Given the description of an element on the screen output the (x, y) to click on. 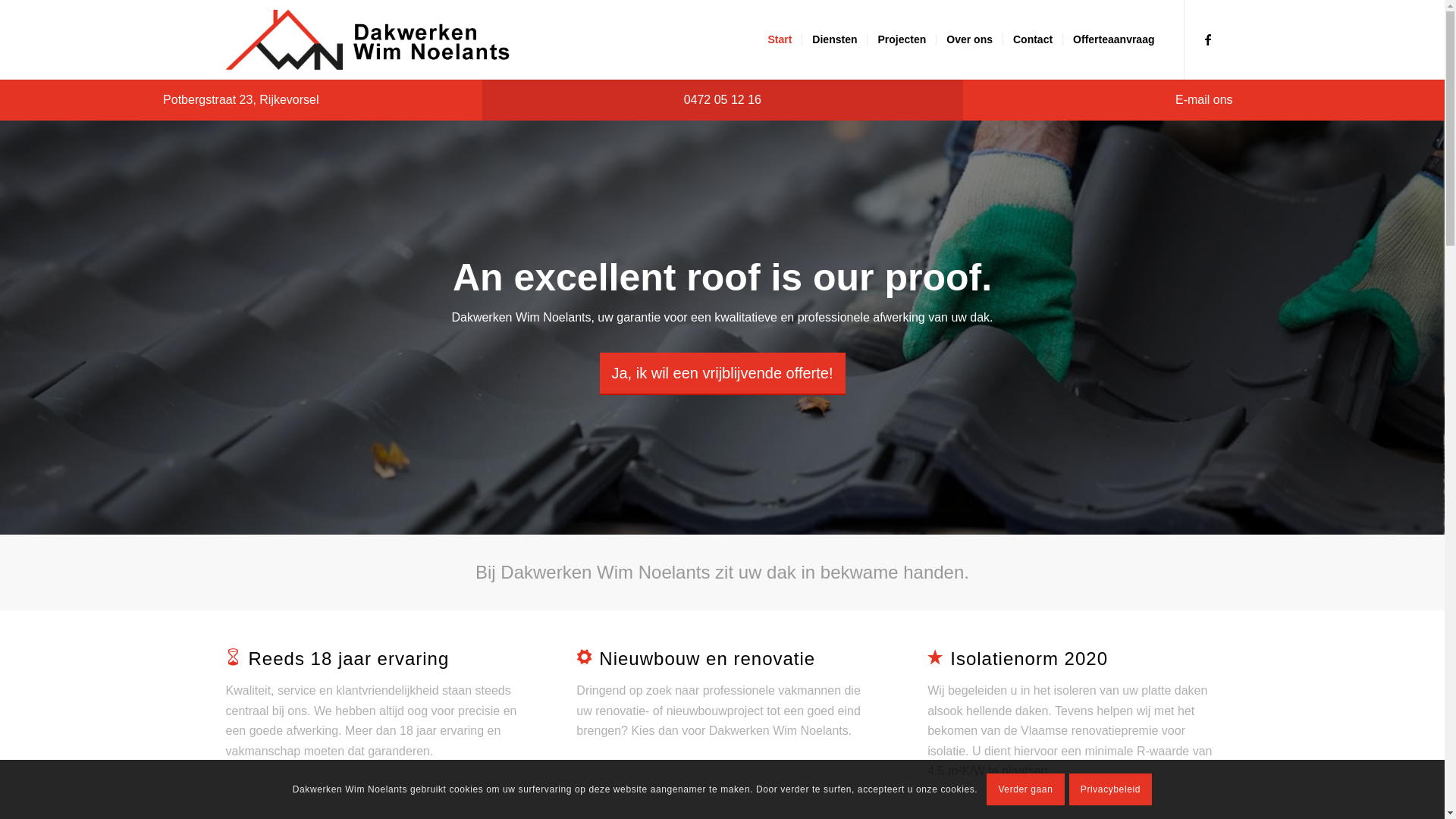
Facebook Element type: hover (1207, 38)
Verder gaan Element type: text (1024, 789)
Dakwerken Wim Noelants Element type: hover (722, 327)
Dakwerken Wim Noelants logo Element type: hover (368, 39)
Over ons Element type: text (968, 39)
Start Element type: text (779, 39)
Projecten Element type: text (900, 39)
Ja, ik wil een vrijblijvende offerte! Element type: text (721, 373)
Diensten Element type: text (833, 39)
Contact Element type: text (1032, 39)
Privacybeleid Element type: text (1110, 789)
Offerteaanvraag Element type: text (1113, 39)
